Given the description of an element on the screen output the (x, y) to click on. 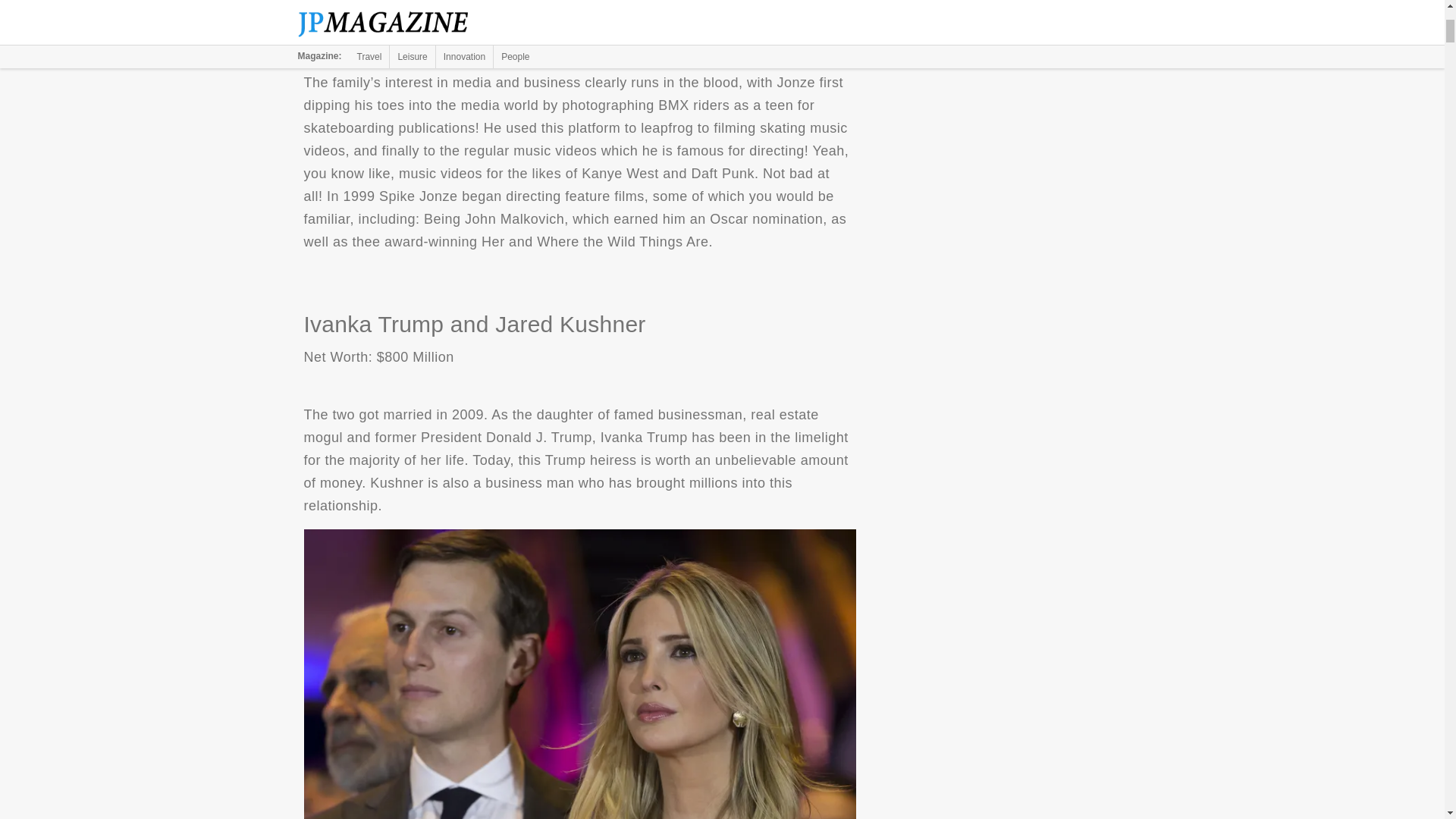
Spike Jonze (579, 22)
